Given the description of an element on the screen output the (x, y) to click on. 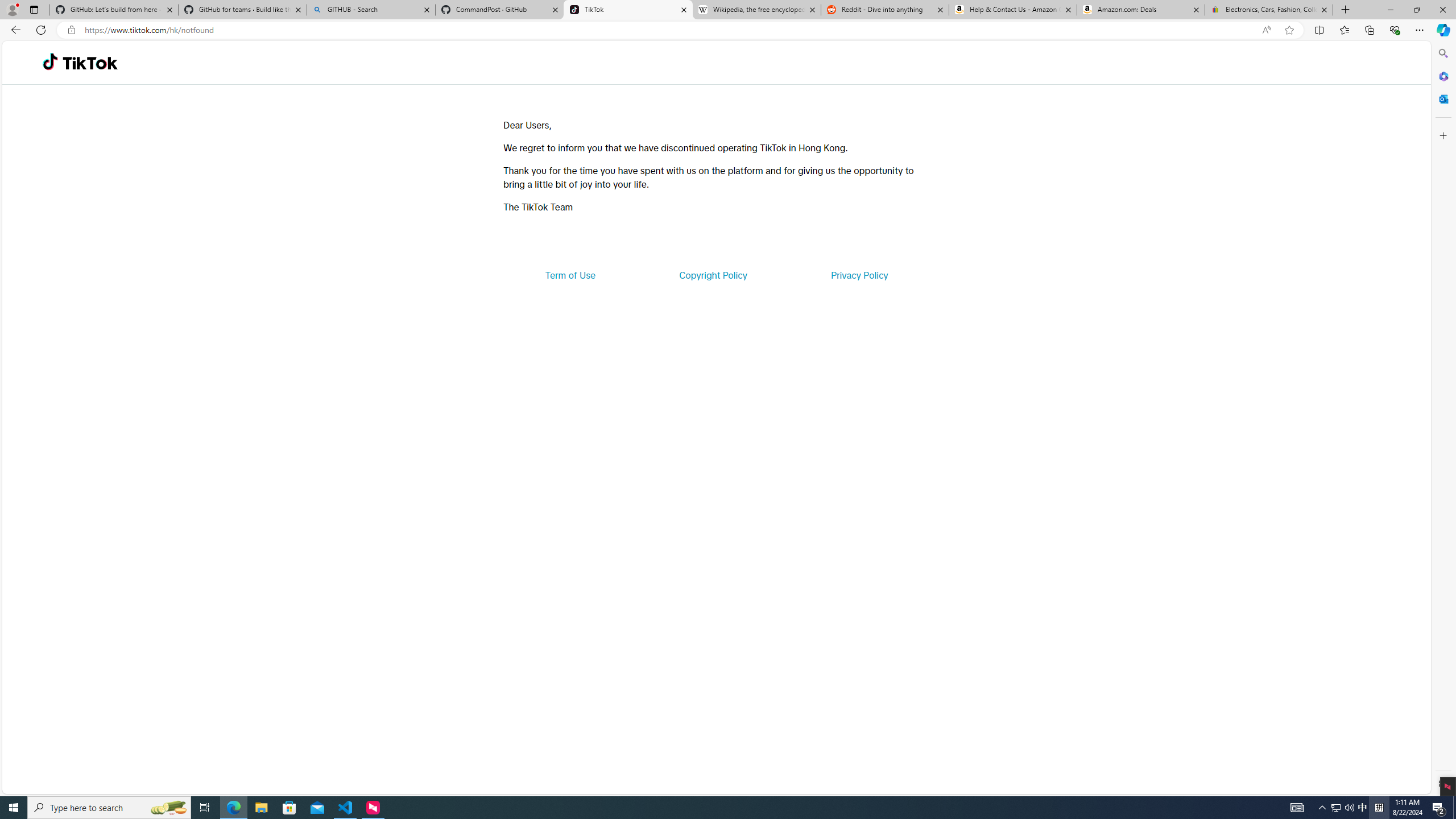
Copyright Policy (712, 274)
